Given the description of an element on the screen output the (x, y) to click on. 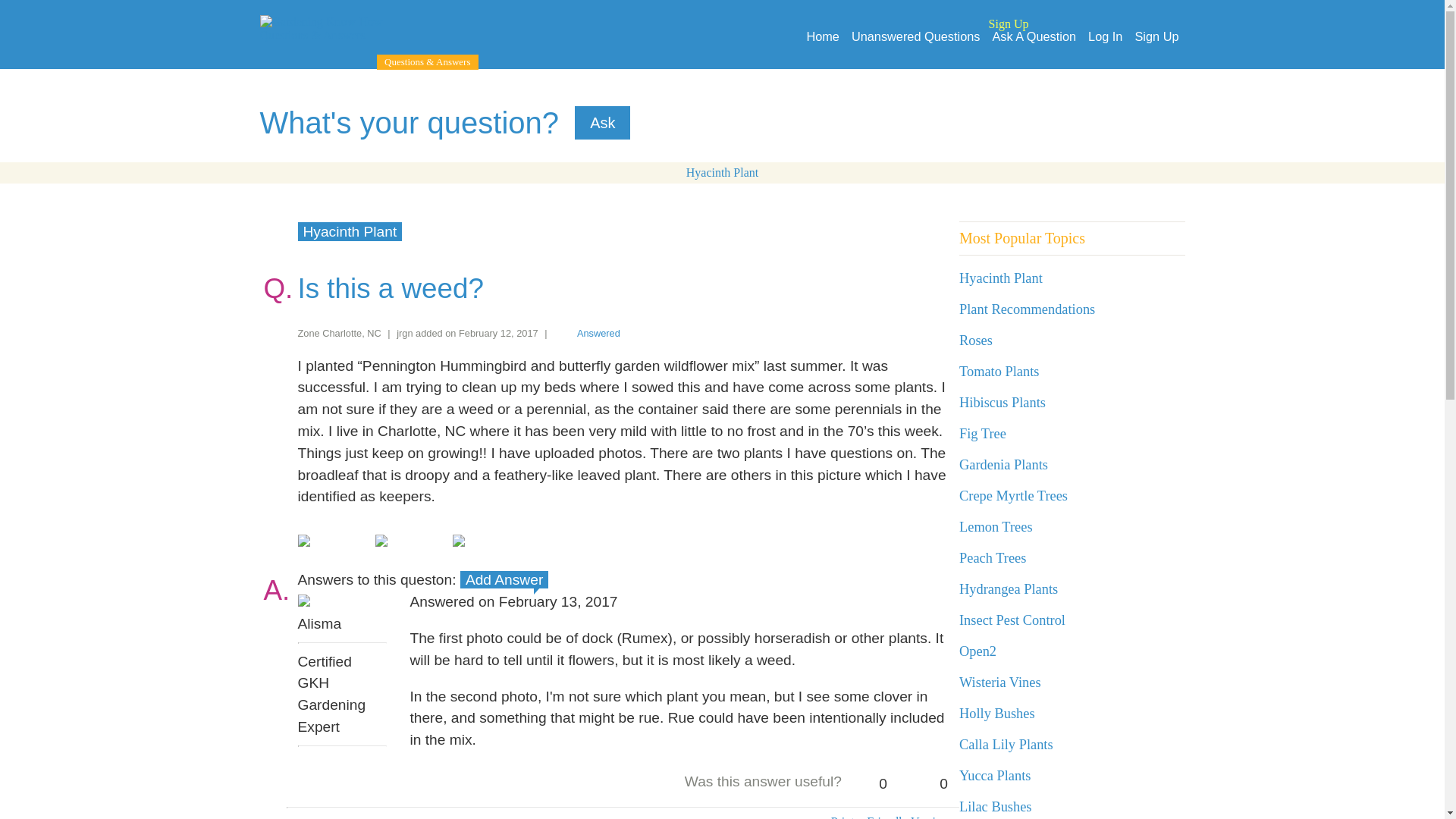
Peach Trees (992, 557)
Tomato Plants (999, 371)
Insect Pest Control (1012, 620)
Lemon Trees (995, 526)
Plant Recommendations (1026, 309)
Add Answer (504, 579)
Hibiscus Plants (1002, 402)
Lemon Trees (995, 526)
Plant Recommendations (1026, 309)
Crepe Myrtle Trees (1013, 495)
Insect Pest Control (1012, 620)
Gardenia Plants (1003, 464)
Log In (1104, 36)
Open2 (977, 651)
Sign Up (1156, 36)
